Given the description of an element on the screen output the (x, y) to click on. 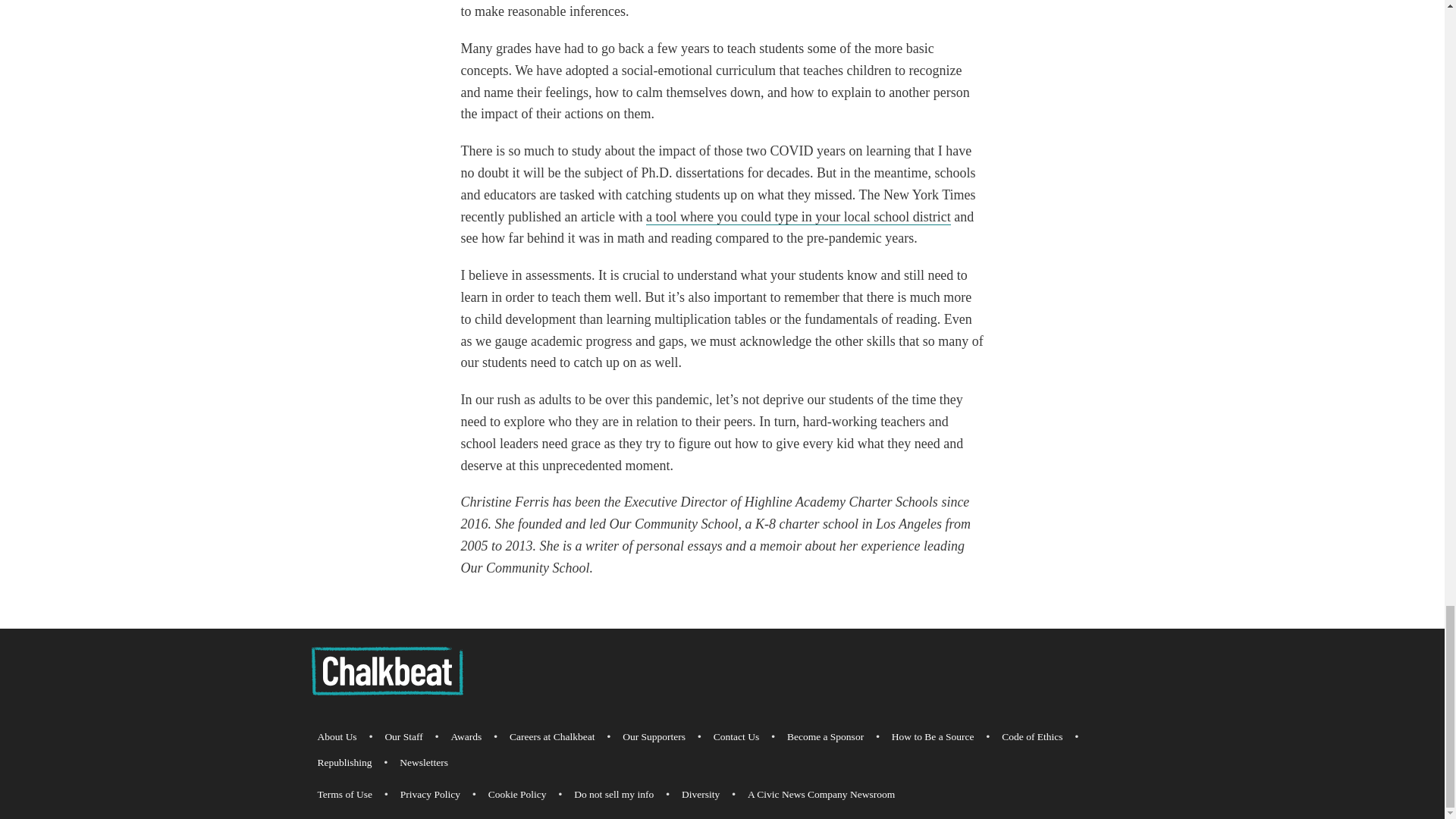
A Civic News Company Newsroom (821, 794)
Diversity (700, 794)
Code of Ethics (1031, 736)
How to Be a Source (932, 736)
About Us (336, 736)
a tool where you could type in your local school district (798, 217)
Become a Sponsor (824, 736)
Cookie Policy (517, 794)
Awards (465, 736)
Careers at Chalkbeat (551, 736)
Newsletters (423, 762)
Privacy Policy (429, 794)
Do not sell my info (613, 794)
Terms of Use (344, 794)
Contact Us (736, 736)
